Given the description of an element on the screen output the (x, y) to click on. 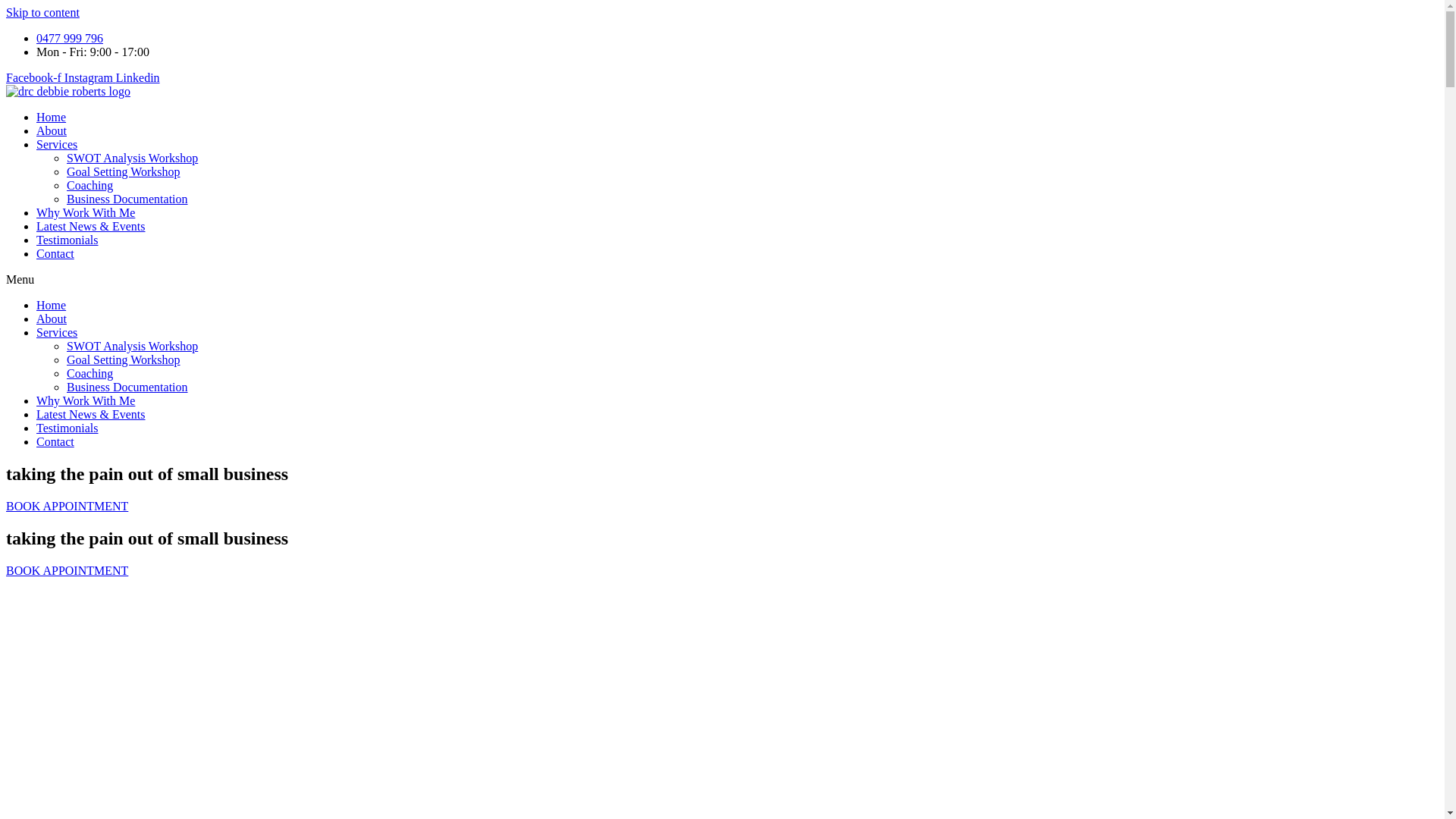
Skip to content Element type: text (42, 12)
Home Element type: text (50, 116)
Goal Setting Workshop Element type: text (123, 359)
Testimonials Element type: text (67, 427)
Why Work With Me Element type: text (85, 212)
Home Element type: text (50, 304)
0477 999 796 Element type: text (69, 37)
Latest News & Events Element type: text (90, 225)
Coaching Element type: text (89, 373)
Facebook-f Element type: text (35, 77)
Linkedin Element type: text (138, 77)
About Element type: text (51, 130)
Goal Setting Workshop Element type: text (123, 171)
Services Element type: text (56, 144)
Business Documentation Element type: text (127, 386)
BOOK APPOINTMENT Element type: text (67, 505)
About Element type: text (51, 318)
Contact Element type: text (55, 253)
Coaching Element type: text (89, 184)
BOOK APPOINTMENT Element type: text (67, 570)
Services Element type: text (56, 332)
Contact Element type: text (55, 441)
SWOT Analysis Workshop Element type: text (131, 345)
Business Documentation Element type: text (127, 198)
Why Work With Me Element type: text (85, 400)
SWOT Analysis Workshop Element type: text (131, 157)
Latest News & Events Element type: text (90, 413)
Instagram Element type: text (90, 77)
Testimonials Element type: text (67, 239)
